Given the description of an element on the screen output the (x, y) to click on. 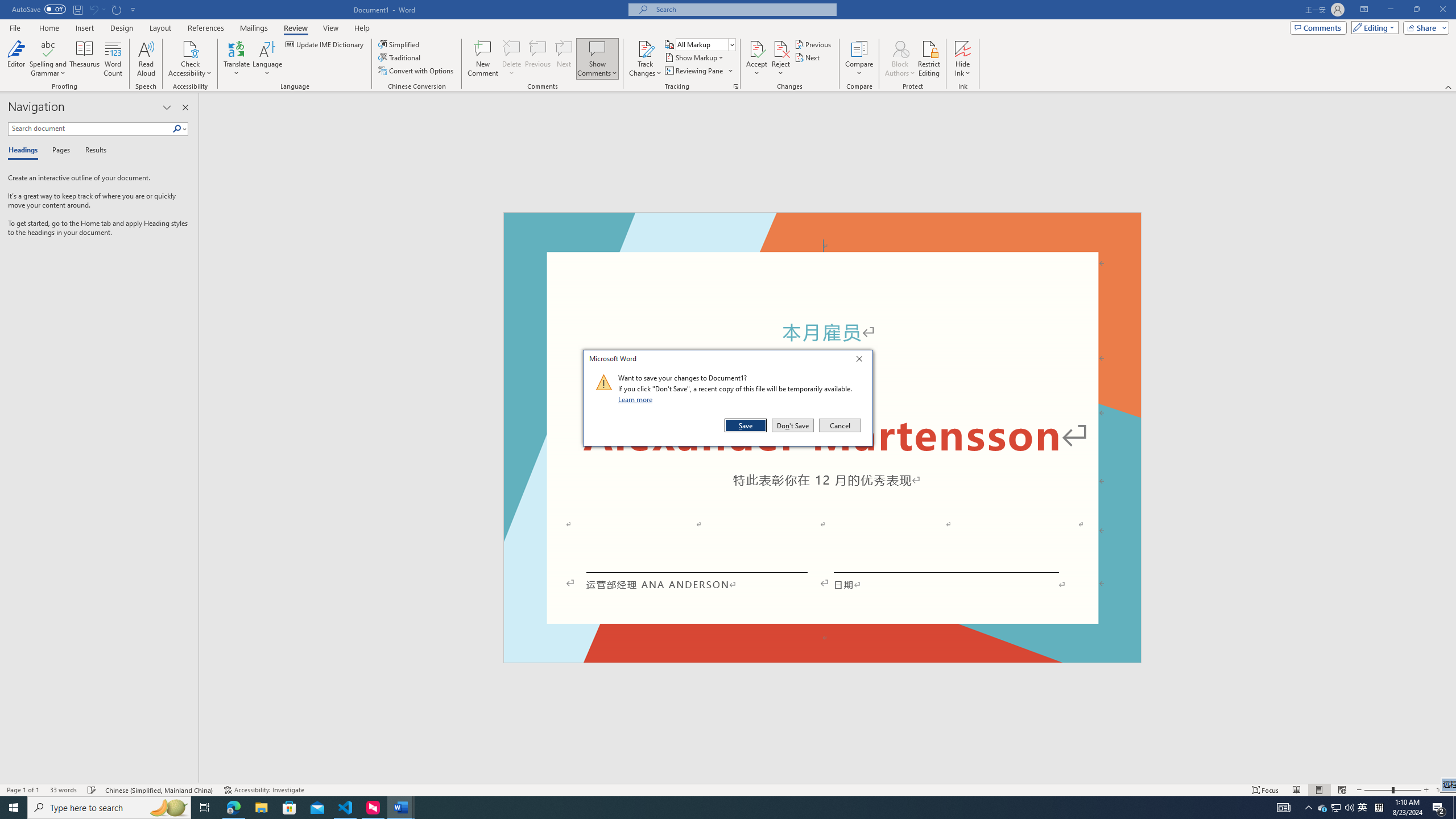
Show Markup (695, 56)
Design (122, 28)
Previous (813, 44)
